Given the description of an element on the screen output the (x, y) to click on. 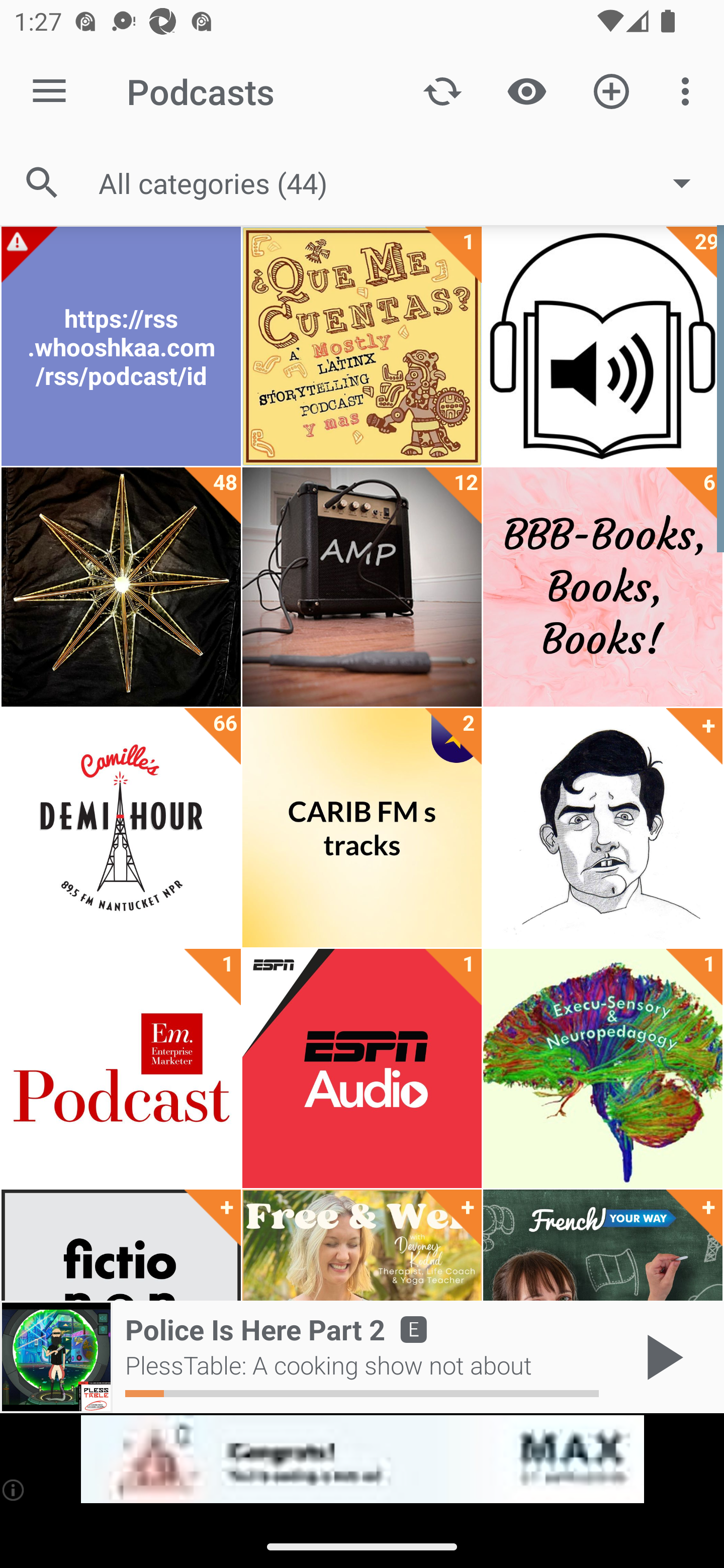
Open navigation sidebar (49, 91)
Update (442, 90)
Show / Hide played content (526, 90)
Add new Podcast (611, 90)
More options (688, 90)
Search (42, 183)
All categories (44) (404, 182)
https://rss.whooshkaa.com/rss/podcast/id/5884 (121, 346)
¿Qué Me Cuentas?: Latinx Storytelling 1 (361, 346)
Audiobooks 29 (602, 346)
Audiobooks 48 (121, 587)
Australian Music Podcasts 12 (361, 587)
BBB-Books, Books, Books! 6 (602, 587)
Camille's Demi-Hour - NANTUCKET NPR 66 (121, 827)
CARIB FM's tracks 2 (361, 827)
Cooking Issues with Dave Arnold + (602, 827)
Enterprise Marketer Podcast - Conference 1 (121, 1068)
ESPN Audio 1 (361, 1068)
Play / Pause (660, 1356)
app-monetization (362, 1459)
(i) (14, 1489)
